Given the description of an element on the screen output the (x, y) to click on. 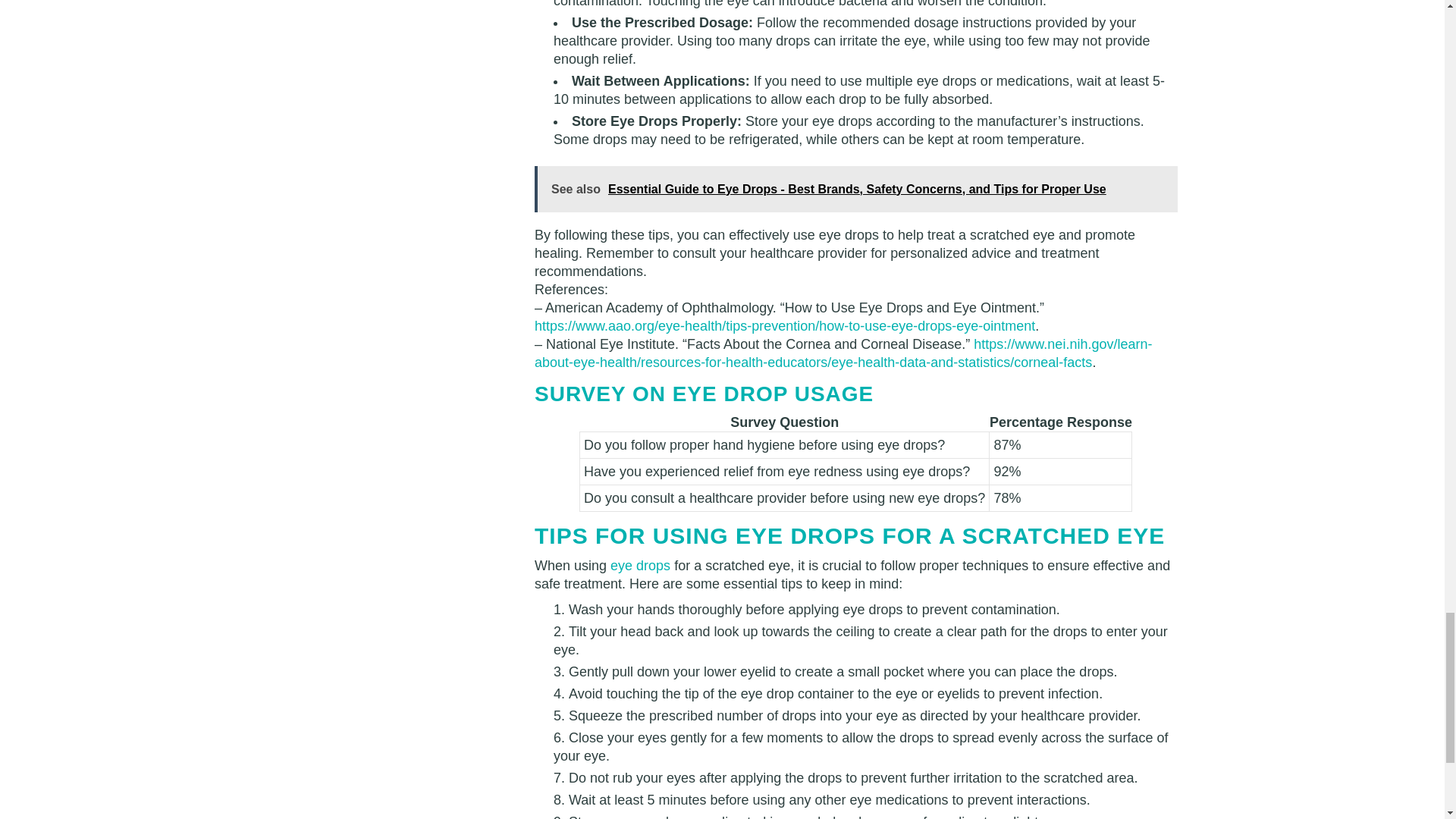
eye drops (639, 565)
